Given the description of an element on the screen output the (x, y) to click on. 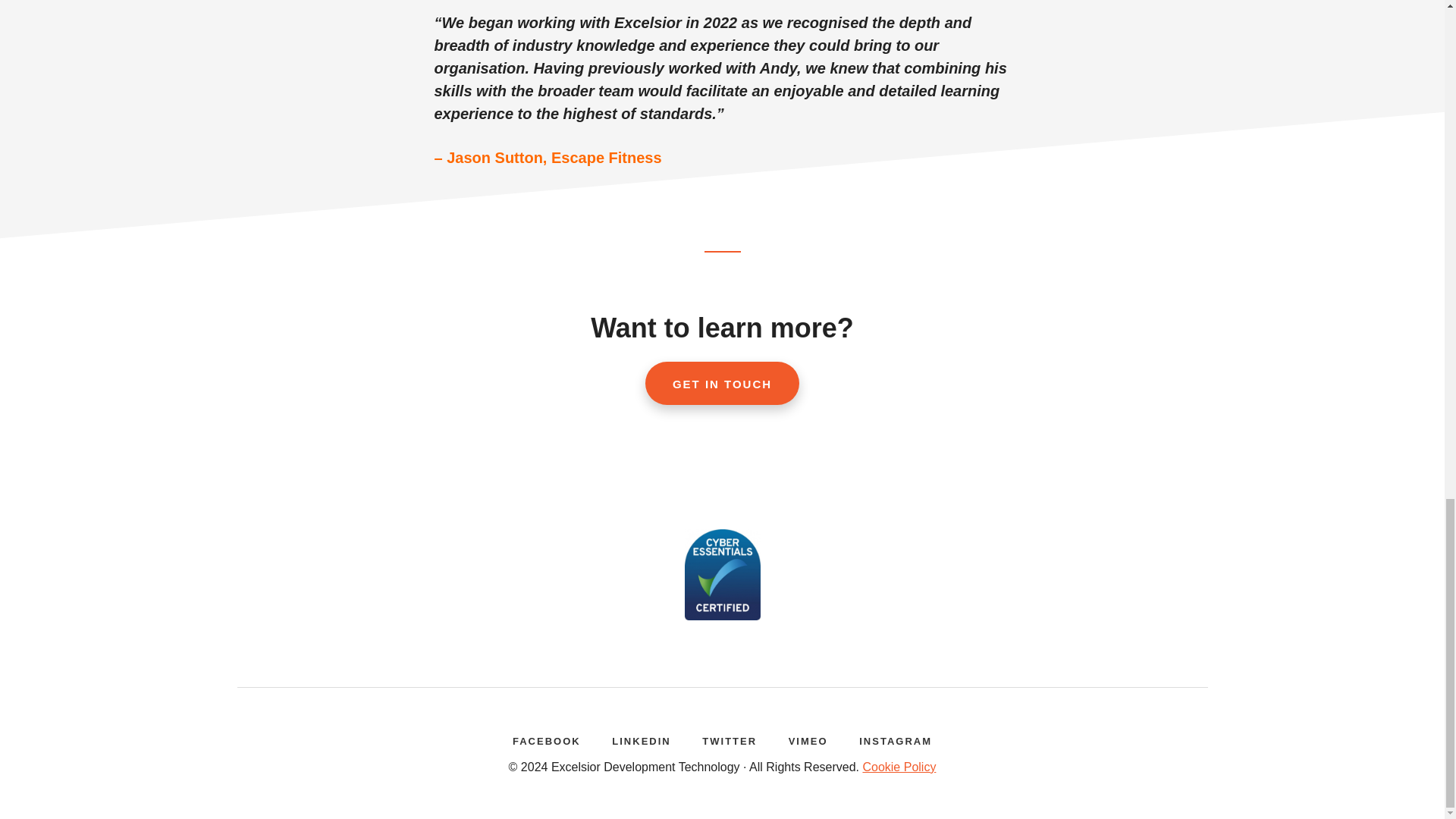
Customer reviews powered by Trustpilot (721, 489)
